Given the description of an element on the screen output the (x, y) to click on. 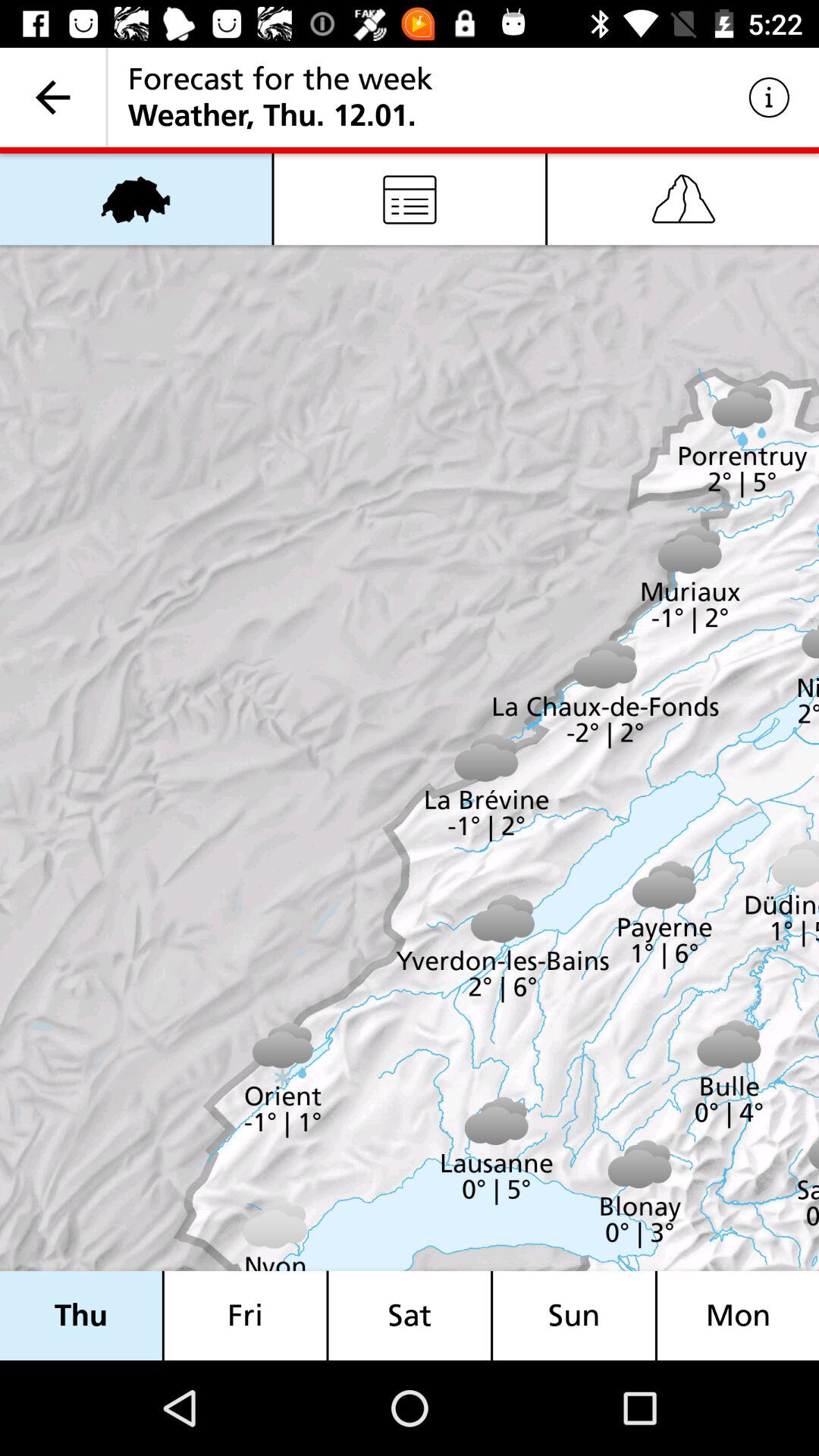
click on the notes icon (409, 199)
click on tab name sun (574, 1315)
select the button which is below information icon on the page (683, 199)
